Given the description of an element on the screen output the (x, y) to click on. 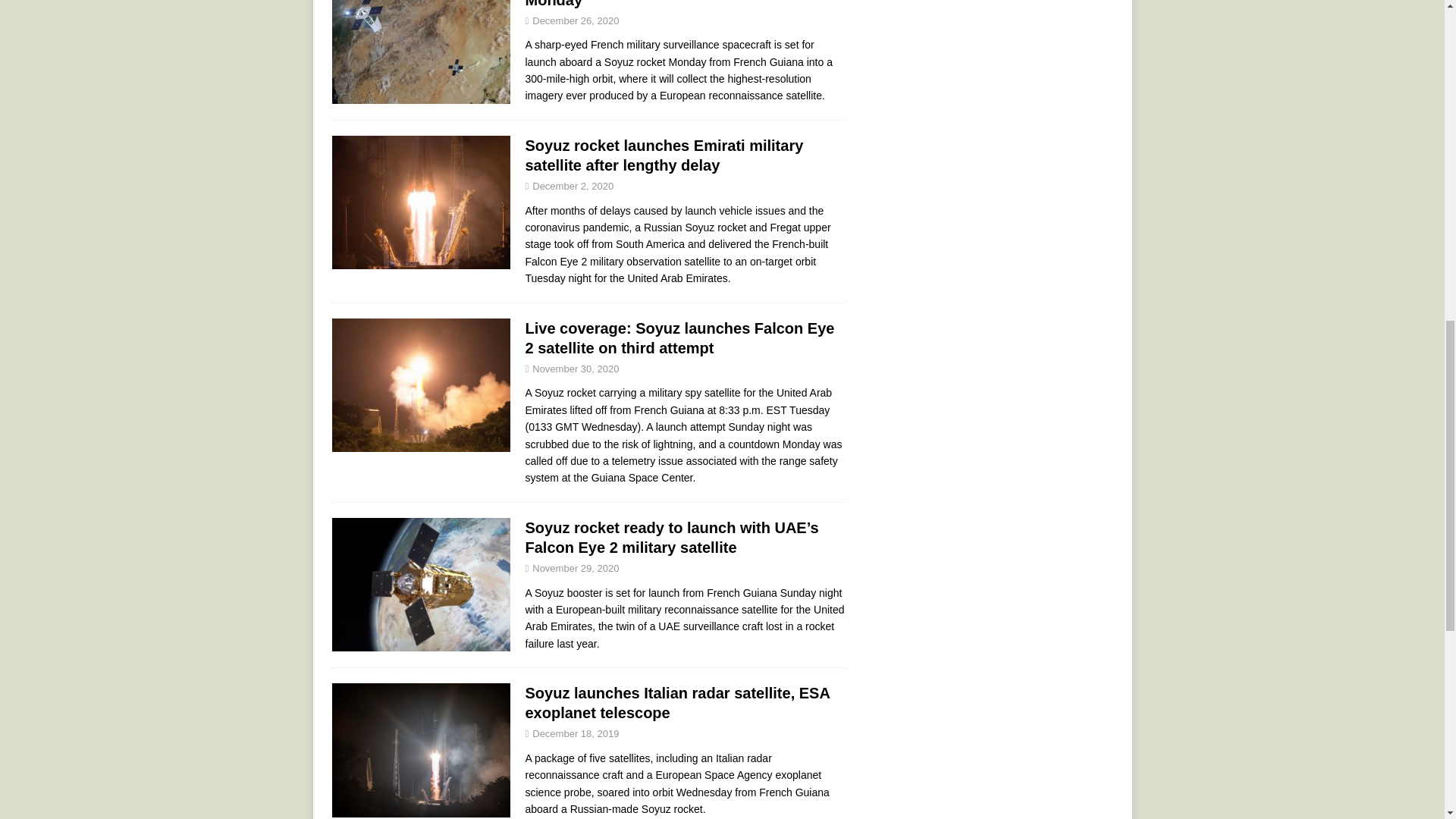
French military spysat set for launch Monday (656, 3)
